Given the description of an element on the screen output the (x, y) to click on. 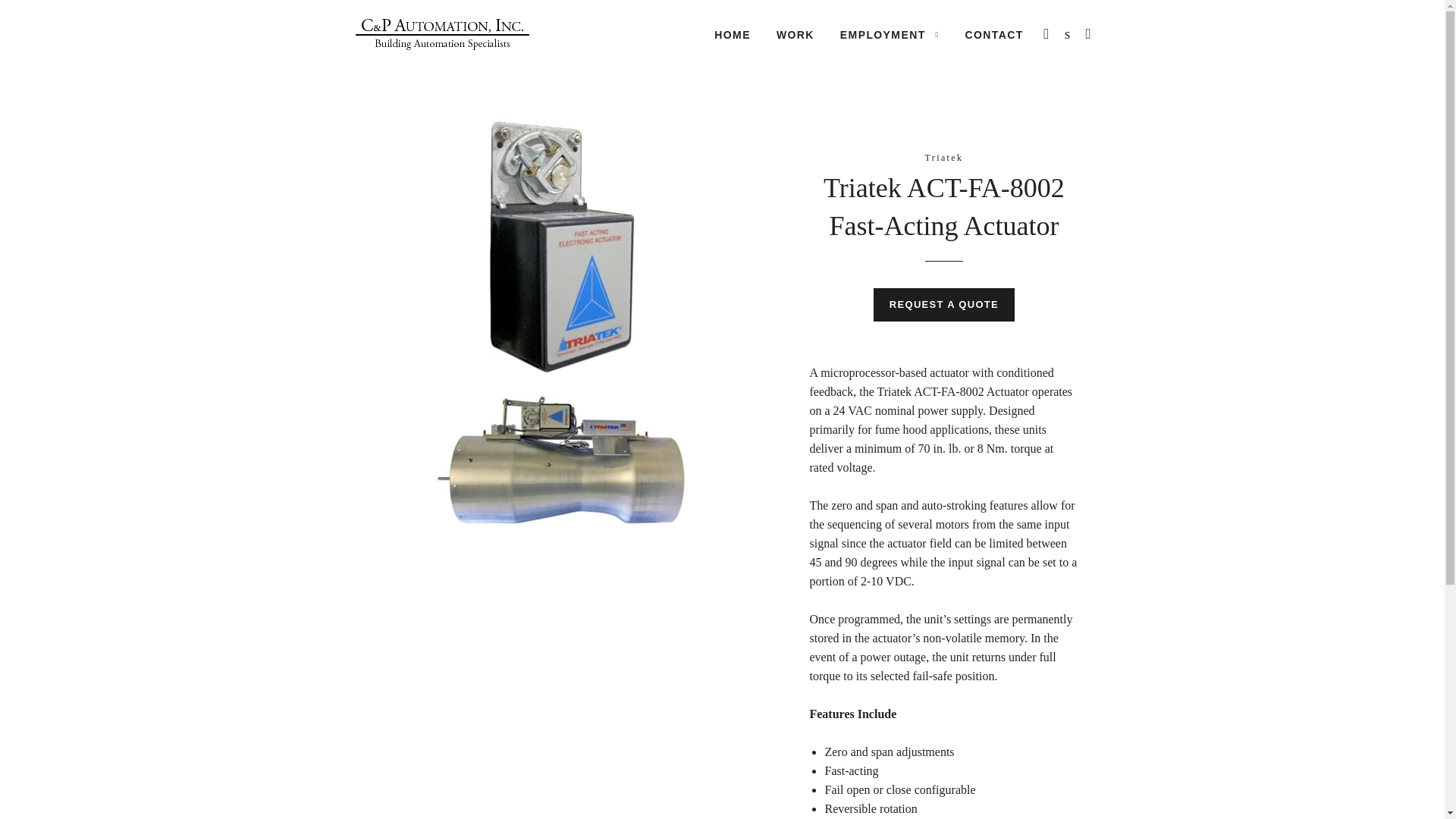
WORK (795, 35)
REQUEST A QUOTE (943, 304)
HOME (732, 35)
CONTACT (993, 35)
EMPLOYMENT (889, 35)
